Given the description of an element on the screen output the (x, y) to click on. 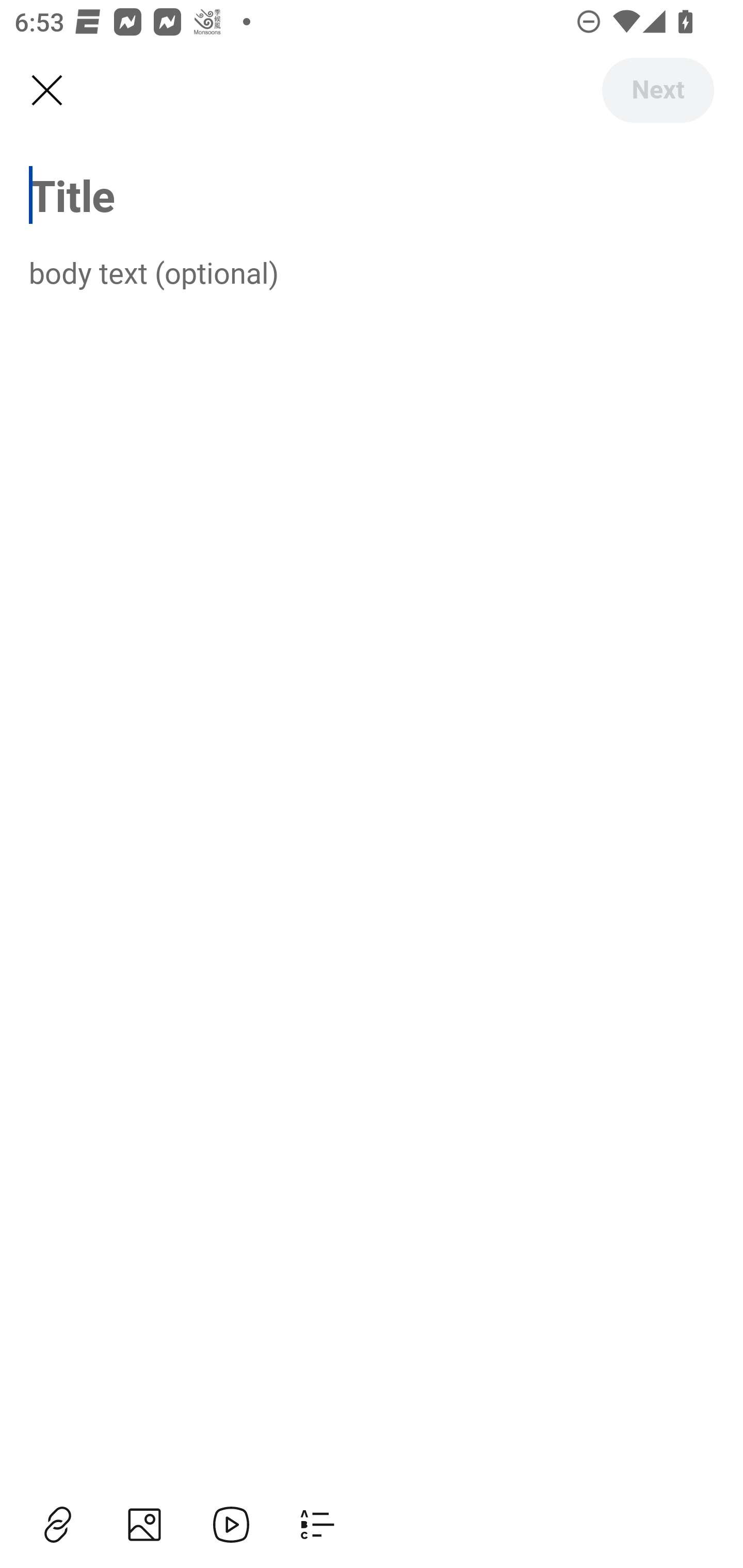
Close (46, 90)
Next (657, 90)
Post title (371, 195)
body text (optional) (371, 271)
